Given the description of an element on the screen output the (x, y) to click on. 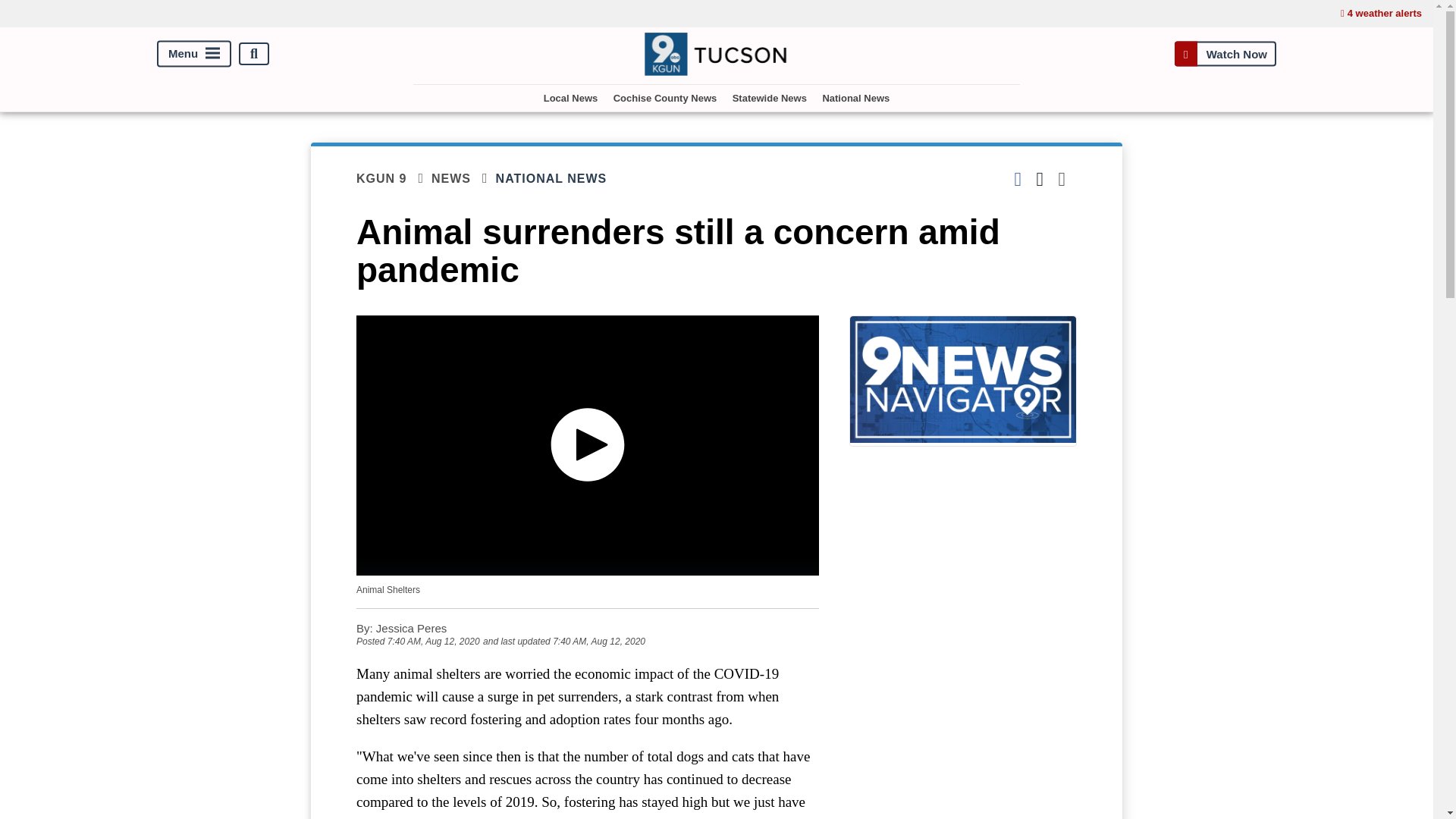
Menu (194, 53)
Watch Now (1224, 53)
